Given the description of an element on the screen output the (x, y) to click on. 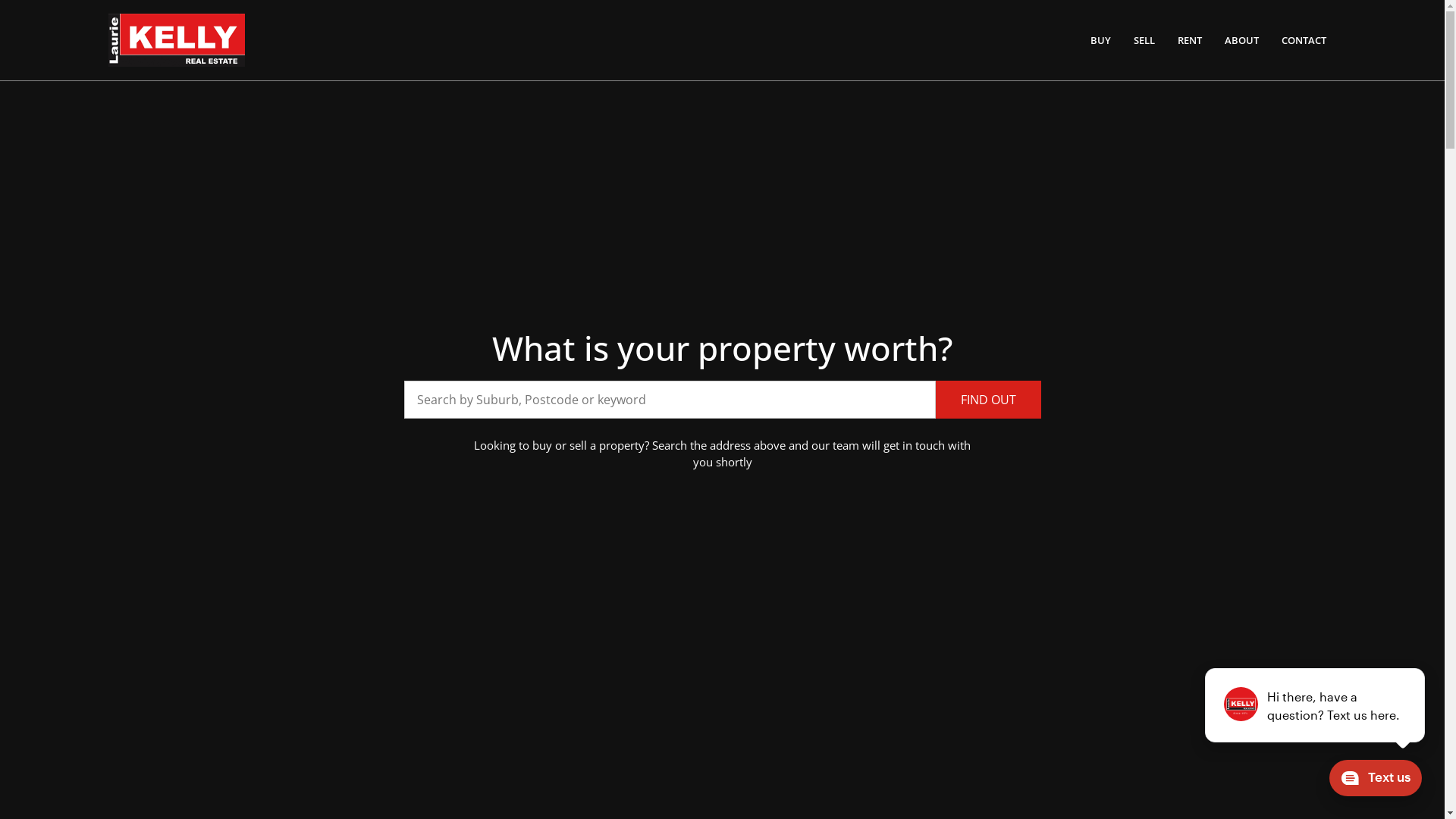
BUY Element type: text (1100, 40)
FIND OUT Element type: text (988, 399)
SELL Element type: text (1143, 40)
RENT Element type: text (1189, 40)
CONTACT Element type: text (1303, 40)
podium webchat widget prompt Element type: hover (1315, 705)
ABOUT Element type: text (1241, 40)
